Given the description of an element on the screen output the (x, y) to click on. 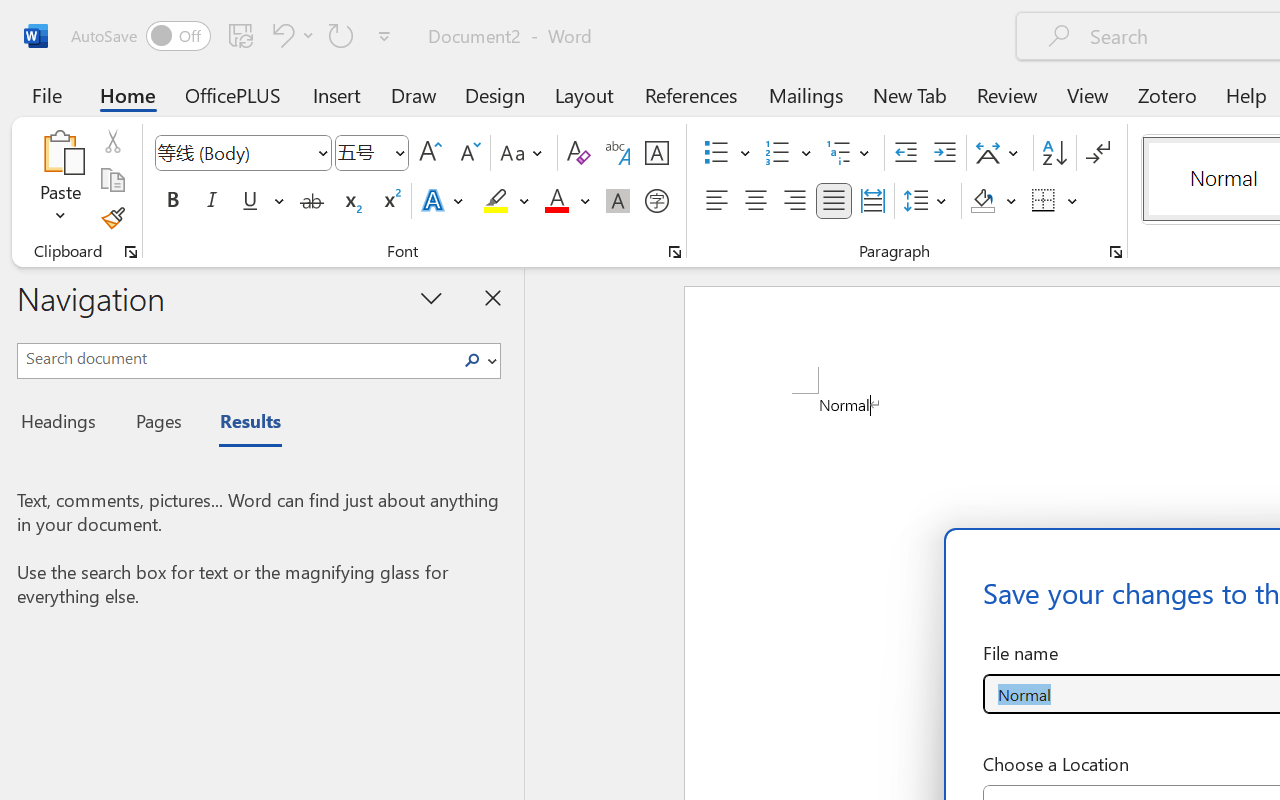
Shading (993, 201)
Increase Indent (944, 153)
Change Case (524, 153)
Align Left (716, 201)
Undo Apply Quick Style (290, 35)
View (1087, 94)
Undo Apply Quick Style (280, 35)
Bullets (716, 153)
Format Painter (112, 218)
Paste (60, 151)
Task Pane Options (431, 297)
Borders (1055, 201)
Save (241, 35)
Search (471, 360)
